Given the description of an element on the screen output the (x, y) to click on. 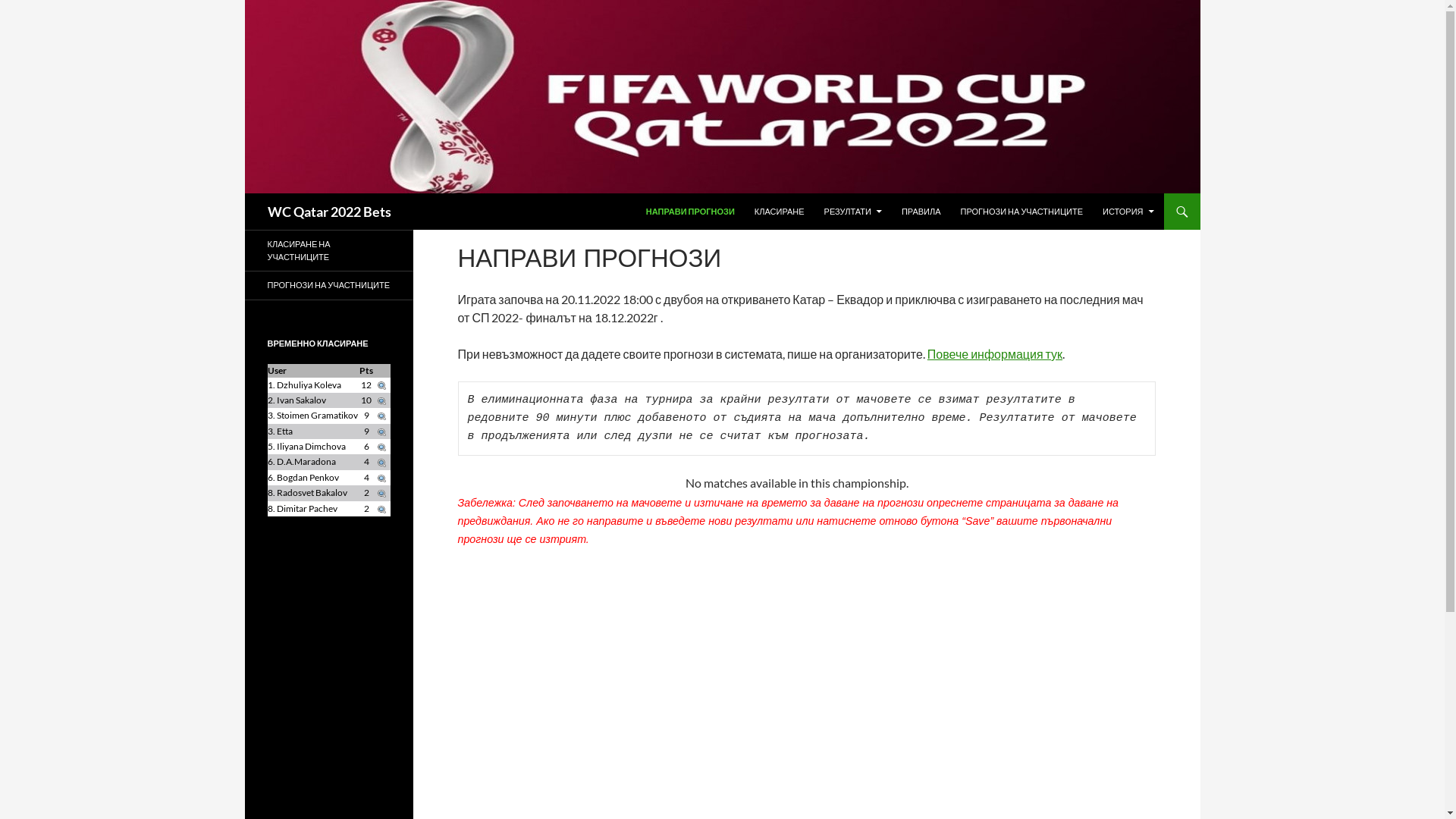
Predictions Element type: hover (381, 414)
Predictions Element type: hover (381, 492)
Predictions Element type: hover (381, 399)
Predictions Element type: hover (381, 445)
Predictions Element type: hover (381, 461)
SKIP TO CONTENT Element type: text (645, 192)
Predictions Element type: hover (381, 477)
Search Element type: text (247, 192)
WC Qatar 2022 Bets Element type: text (328, 211)
Predictions Element type: hover (381, 508)
Predictions Element type: hover (381, 384)
Predictions Element type: hover (381, 430)
